Given the description of an element on the screen output the (x, y) to click on. 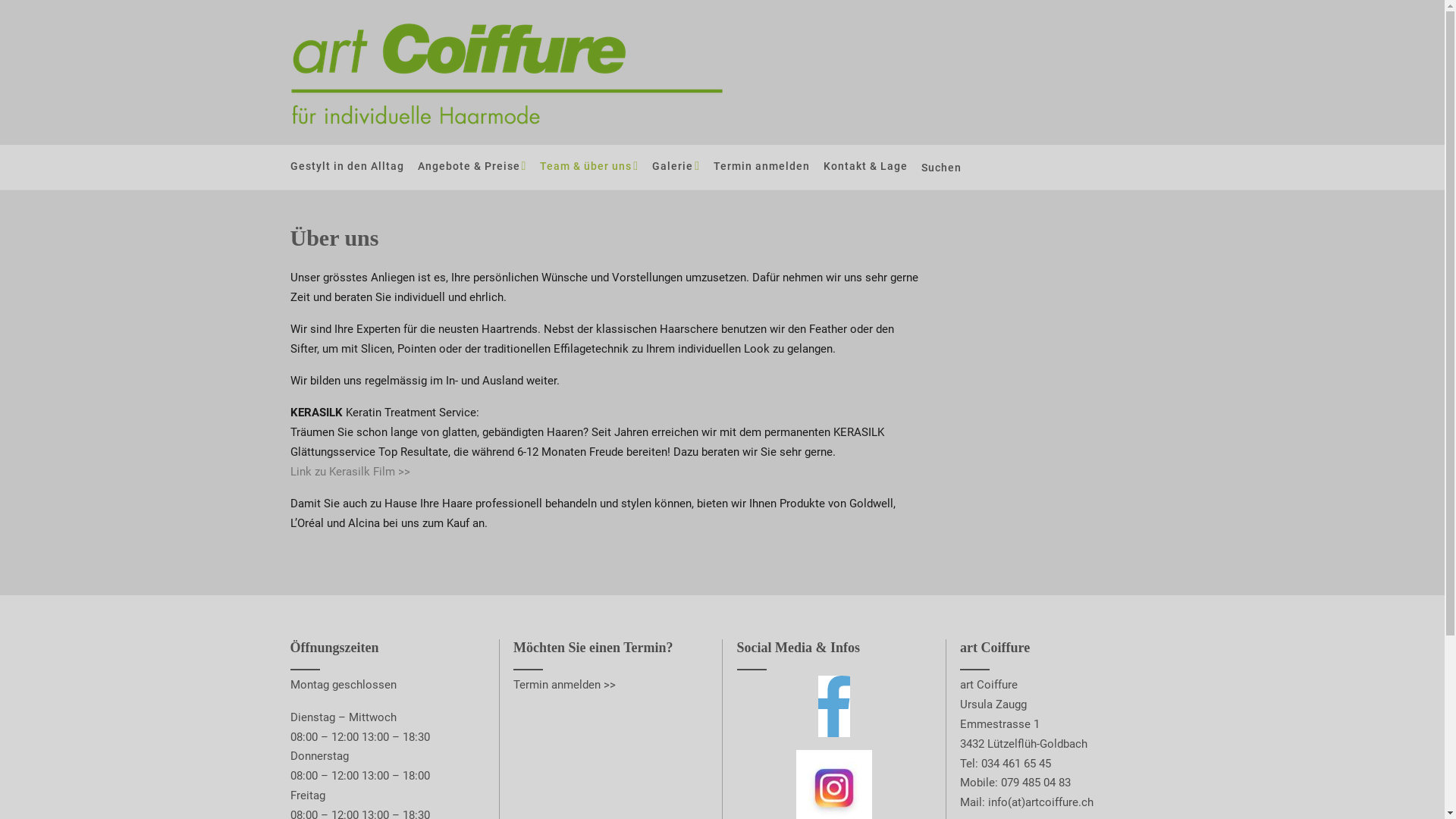
Kontakt & Lage Element type: text (865, 166)
Link zu Kerasilk Film >> Element type: text (349, 471)
Suchen Element type: text (942, 167)
Angebote & Preise Element type: text (471, 166)
info(at)artcoiffure.ch Element type: text (1040, 802)
Termin anmelden Element type: text (761, 166)
Termin anmelden >> Element type: text (564, 684)
Gestylt in den Alltag Element type: text (346, 166)
Galerie Element type: text (675, 166)
